Given the description of an element on the screen output the (x, y) to click on. 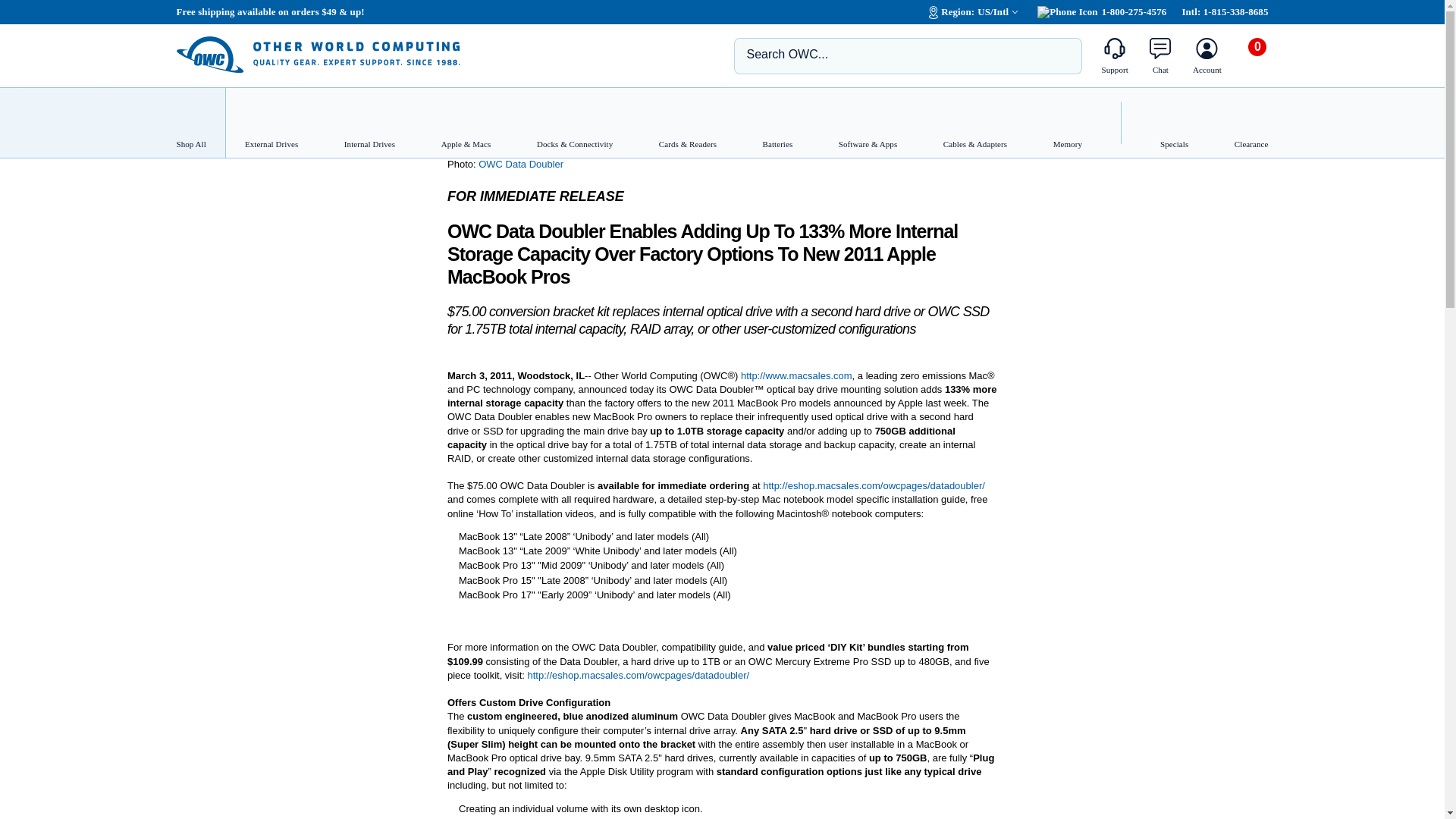
Search (1059, 55)
External Drives (265, 122)
0 (1255, 61)
Intl: 1-815-338-8685 (1224, 11)
1-800-275-4576 (1101, 11)
